Given the description of an element on the screen output the (x, y) to click on. 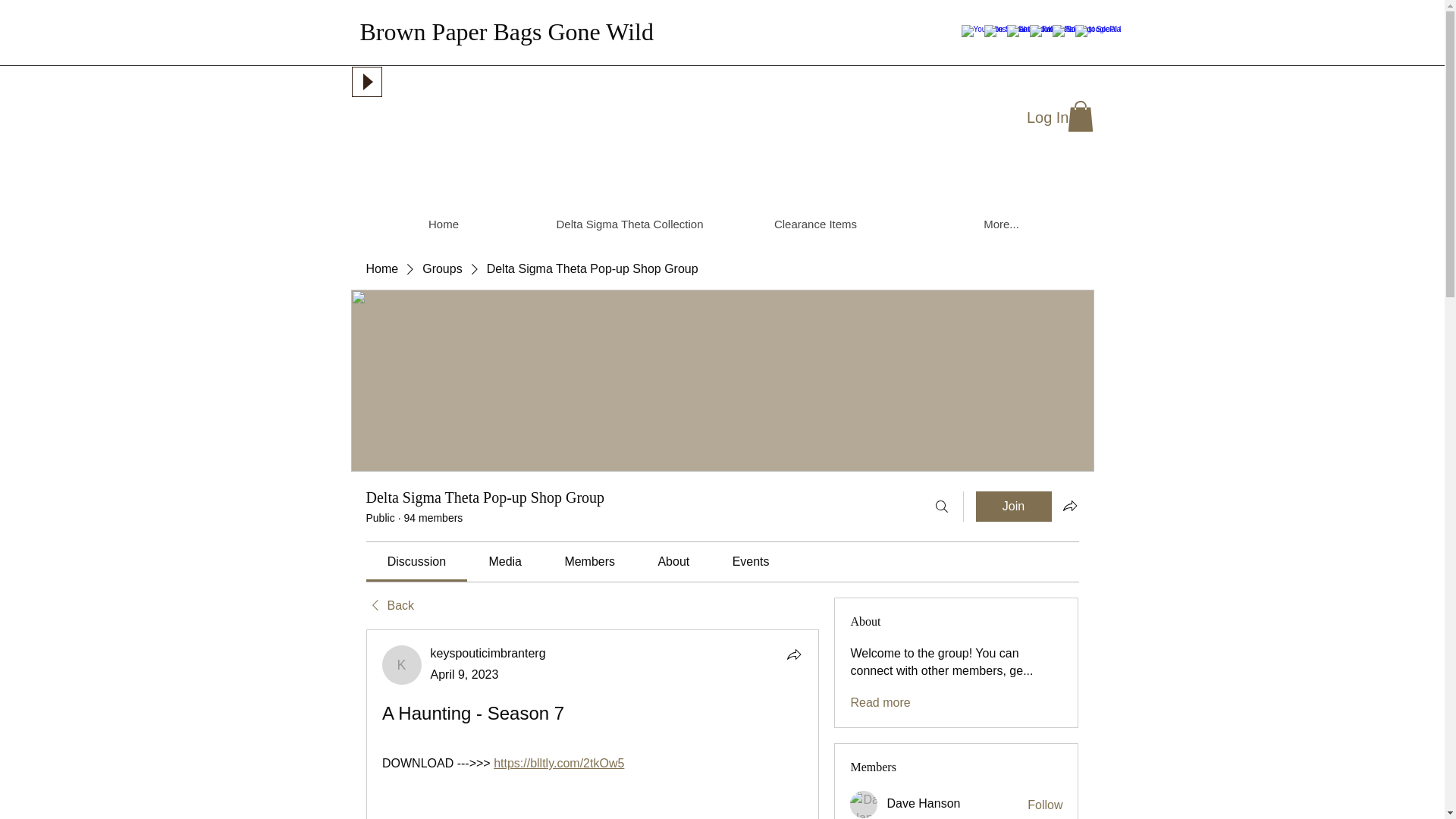
Read more (880, 702)
keyspouticimbranterg (488, 653)
Home (381, 269)
Back (389, 605)
Home (442, 224)
keyspouticimbranterg (488, 653)
Groups (441, 269)
Dave Hanson (922, 802)
Clearance Items (814, 224)
Follow (1044, 805)
